Given the description of an element on the screen output the (x, y) to click on. 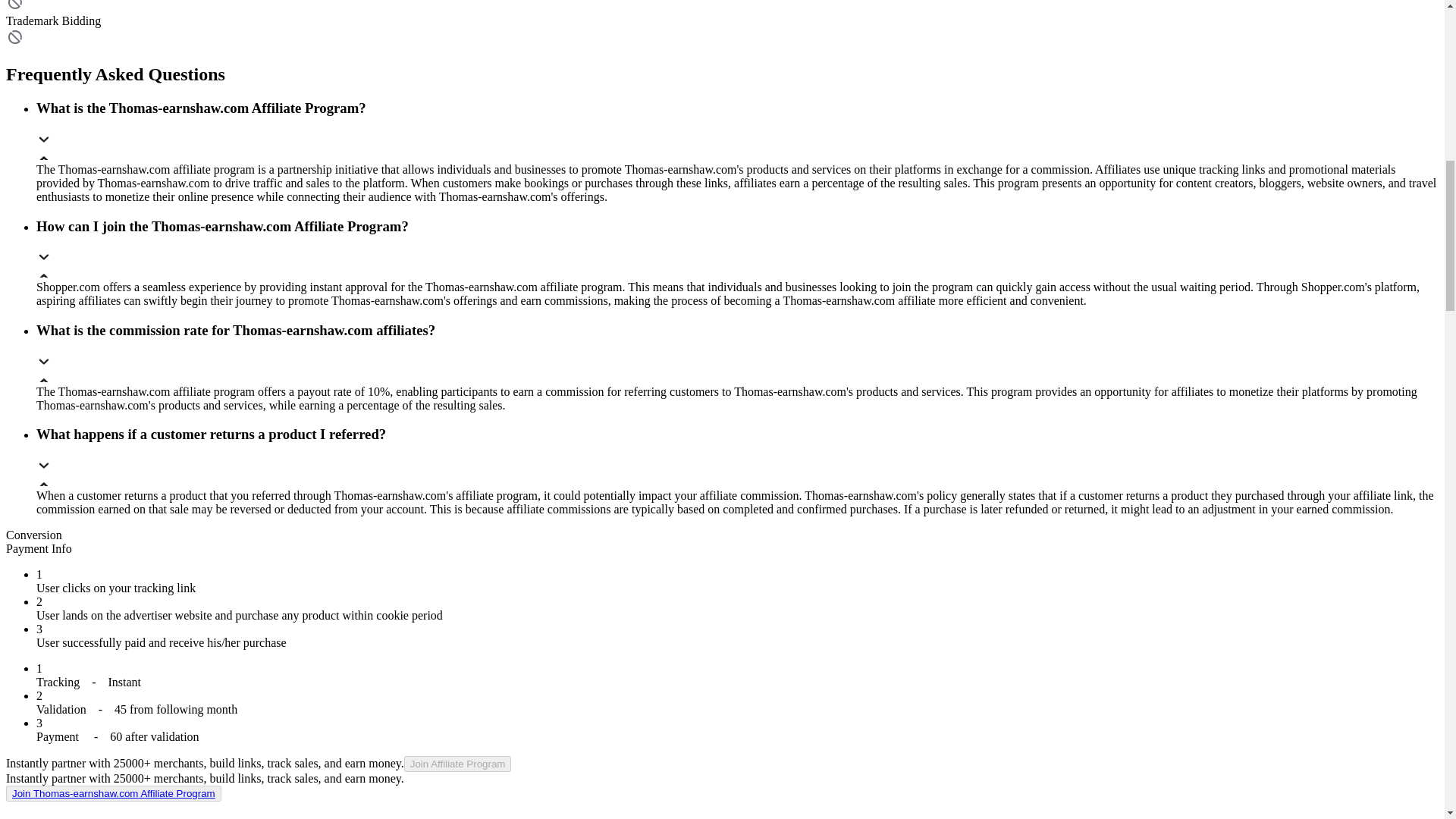
Join Thomas-earnshaw.com Affiliate Program (113, 793)
Join Affiliate Program (458, 763)
Join Thomas-earnshaw.com Affiliate Program (113, 793)
